Given the description of an element on the screen output the (x, y) to click on. 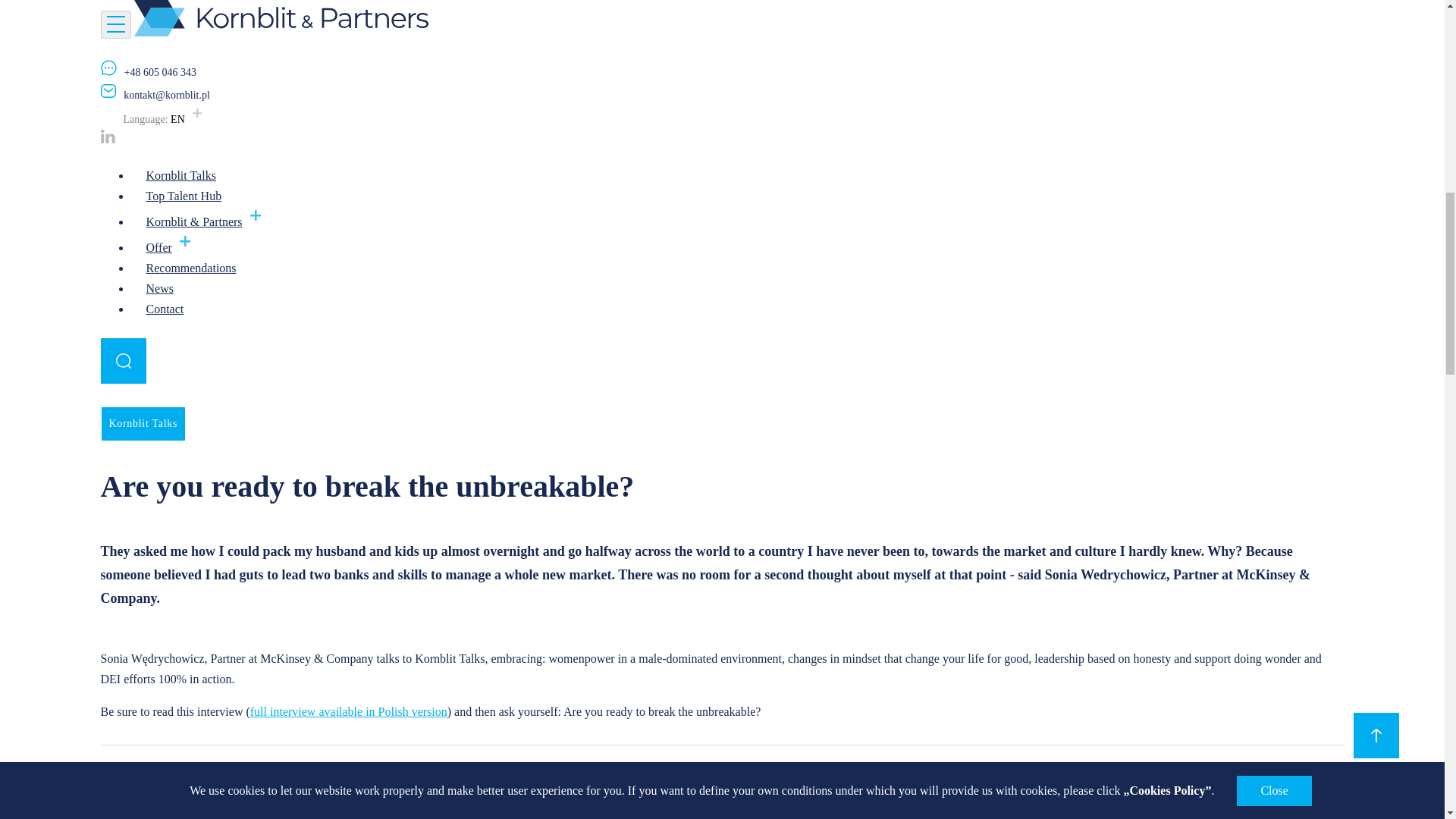
full interview available in Polish version (348, 711)
Kornblit Talks (143, 423)
